Given the description of an element on the screen output the (x, y) to click on. 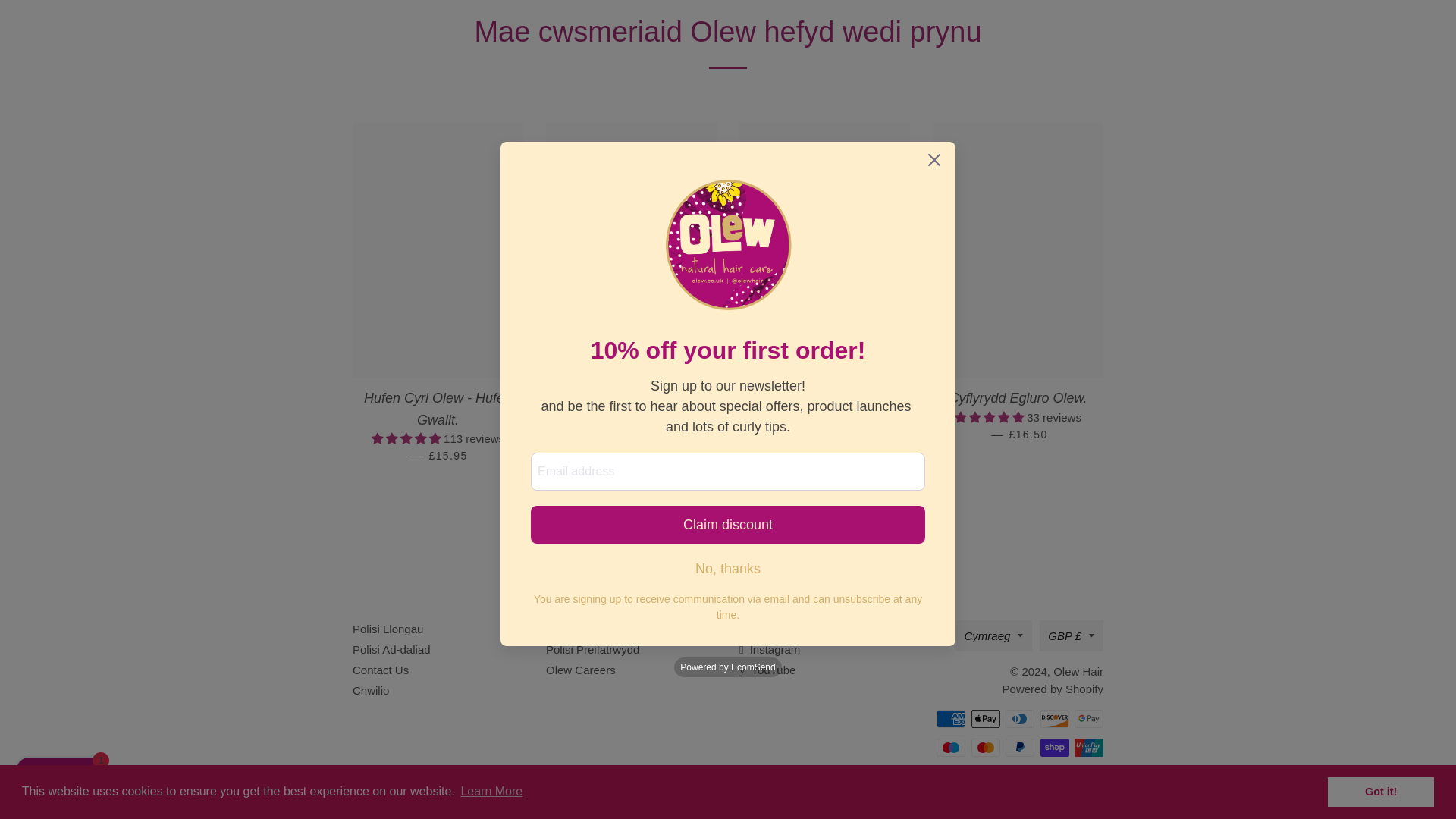
Discover (1054, 719)
Maestro (950, 747)
Apple Pay (984, 719)
American Express (950, 719)
PayPal (1019, 747)
Visa (1088, 776)
Mastercard (984, 747)
Union Pay (1088, 747)
Shop Pay (1054, 747)
Google Pay (1088, 719)
Diners Club (1019, 719)
